Given the description of an element on the screen output the (x, y) to click on. 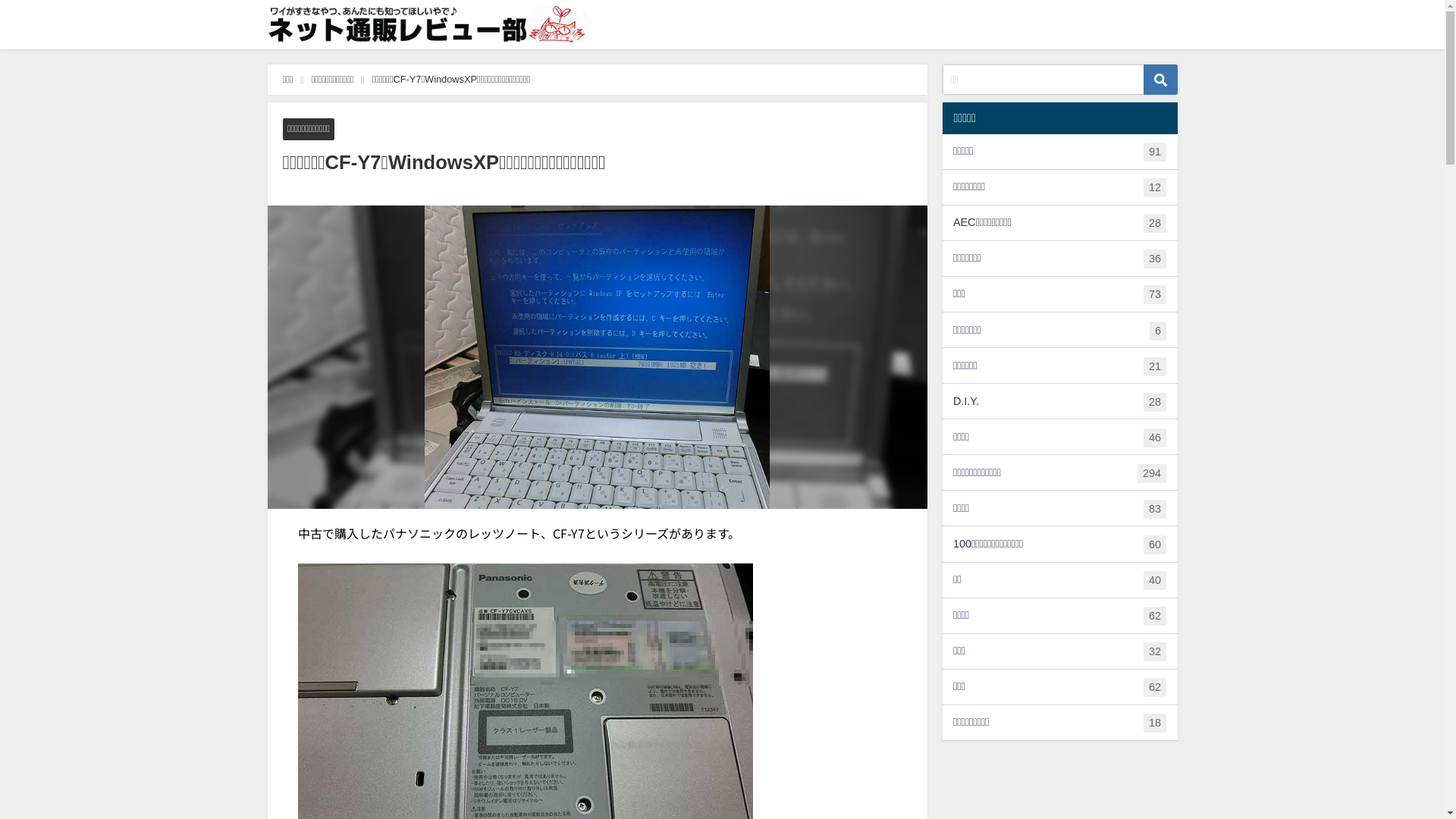
D.I.Y.
28 Element type: text (1058, 400)
